Given the description of an element on the screen output the (x, y) to click on. 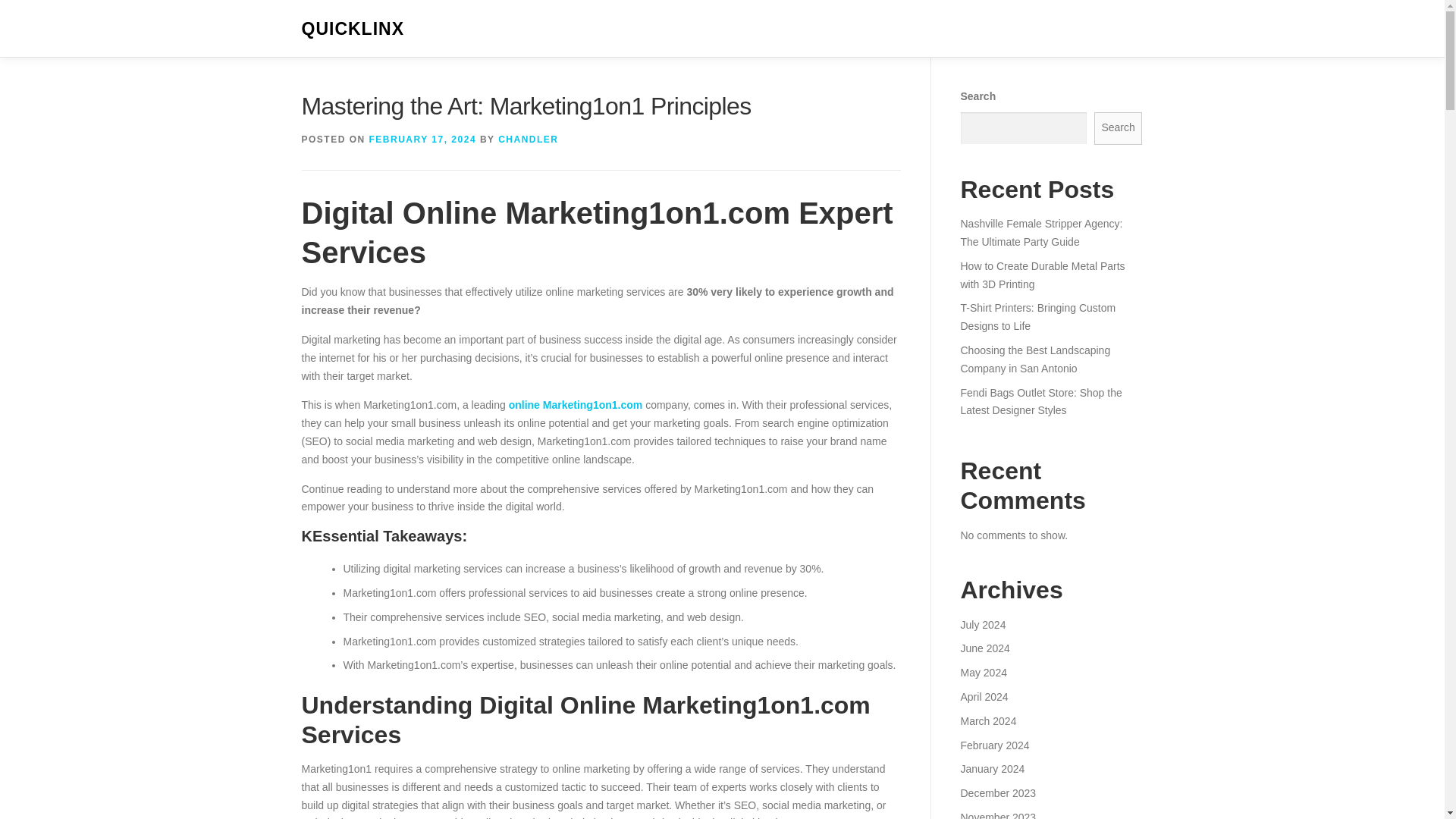
FEBRUARY 17, 2024 (423, 139)
April 2024 (983, 696)
Nashville Female Stripper Agency: The Ultimate Party Guide (1040, 232)
Search (1118, 128)
T-Shirt Printers: Bringing Custom Designs to Life (1037, 317)
June 2024 (984, 648)
March 2024 (987, 720)
Choosing the Best Landscaping Company in San Antonio (1034, 358)
November 2023 (997, 815)
December 2023 (997, 793)
How to Create Durable Metal Parts with 3D Printing (1041, 275)
January 2024 (992, 768)
Fendi Bags Outlet Store: Shop the Latest Designer Styles (1040, 401)
May 2024 (982, 672)
QUICKLINX (352, 29)
